Given the description of an element on the screen output the (x, y) to click on. 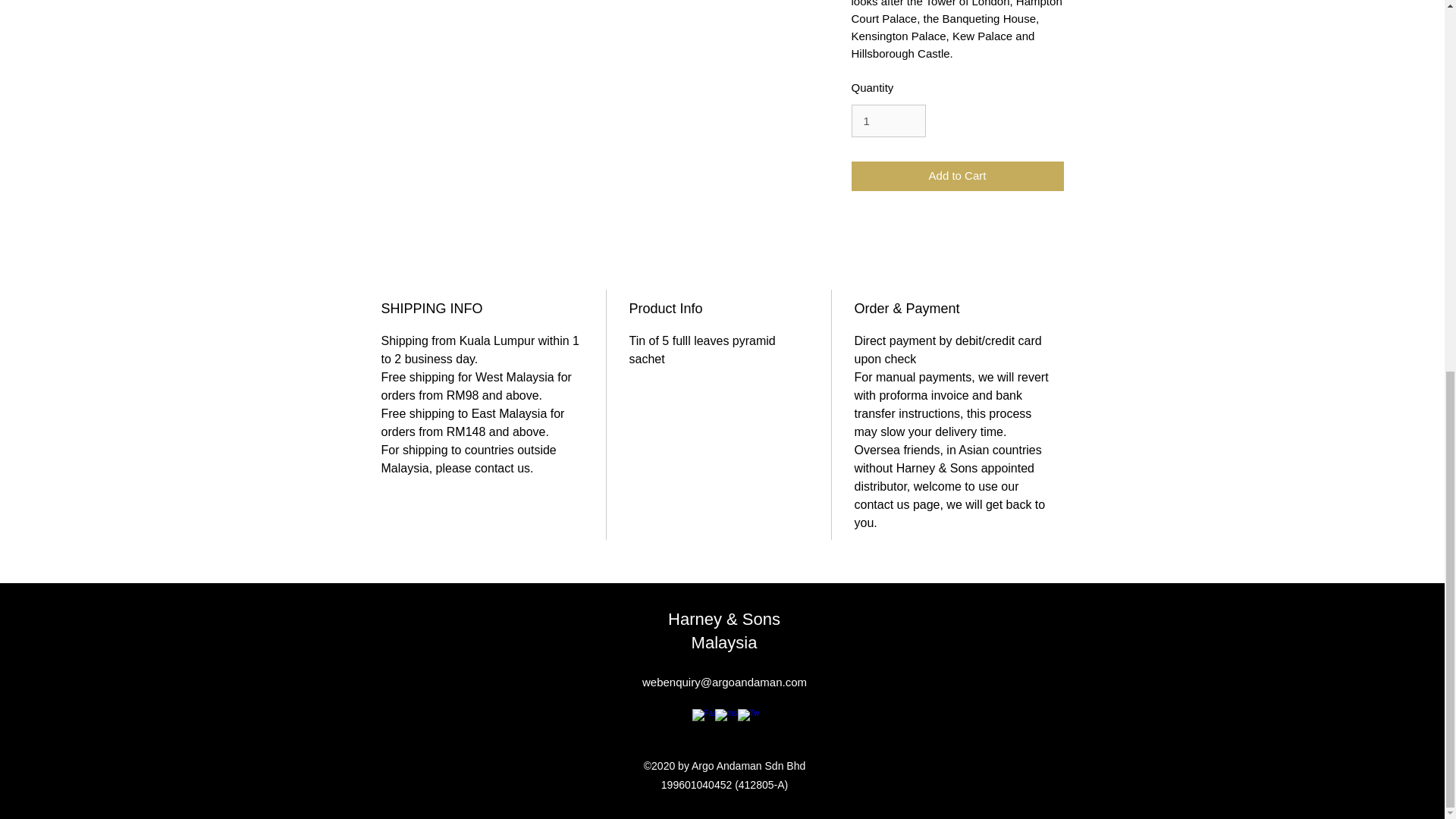
Add to Cart (956, 175)
1 (887, 121)
